Given the description of an element on the screen output the (x, y) to click on. 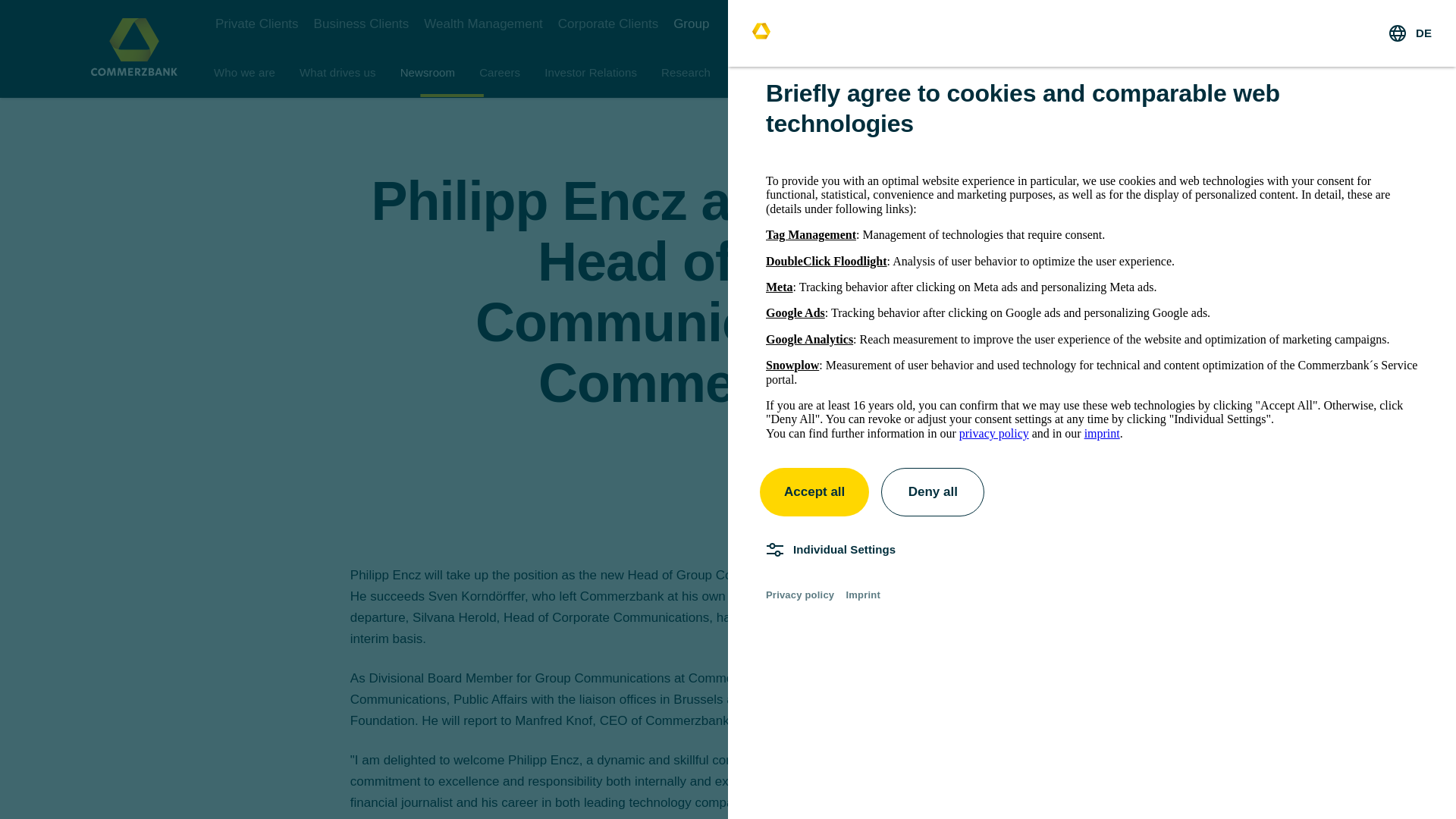
Service (754, 72)
EN (1343, 24)
Business Clients (361, 24)
Corporate Clients (607, 24)
Business Clients (361, 24)
group (690, 24)
Wealth Management (483, 24)
Wealth Management (483, 24)
Financial Institutions (849, 72)
Research (685, 72)
Who we are (244, 72)
What drives us (337, 72)
Financial Institutions (849, 72)
Group (690, 24)
Investor Relations (590, 72)
